Given the description of an element on the screen output the (x, y) to click on. 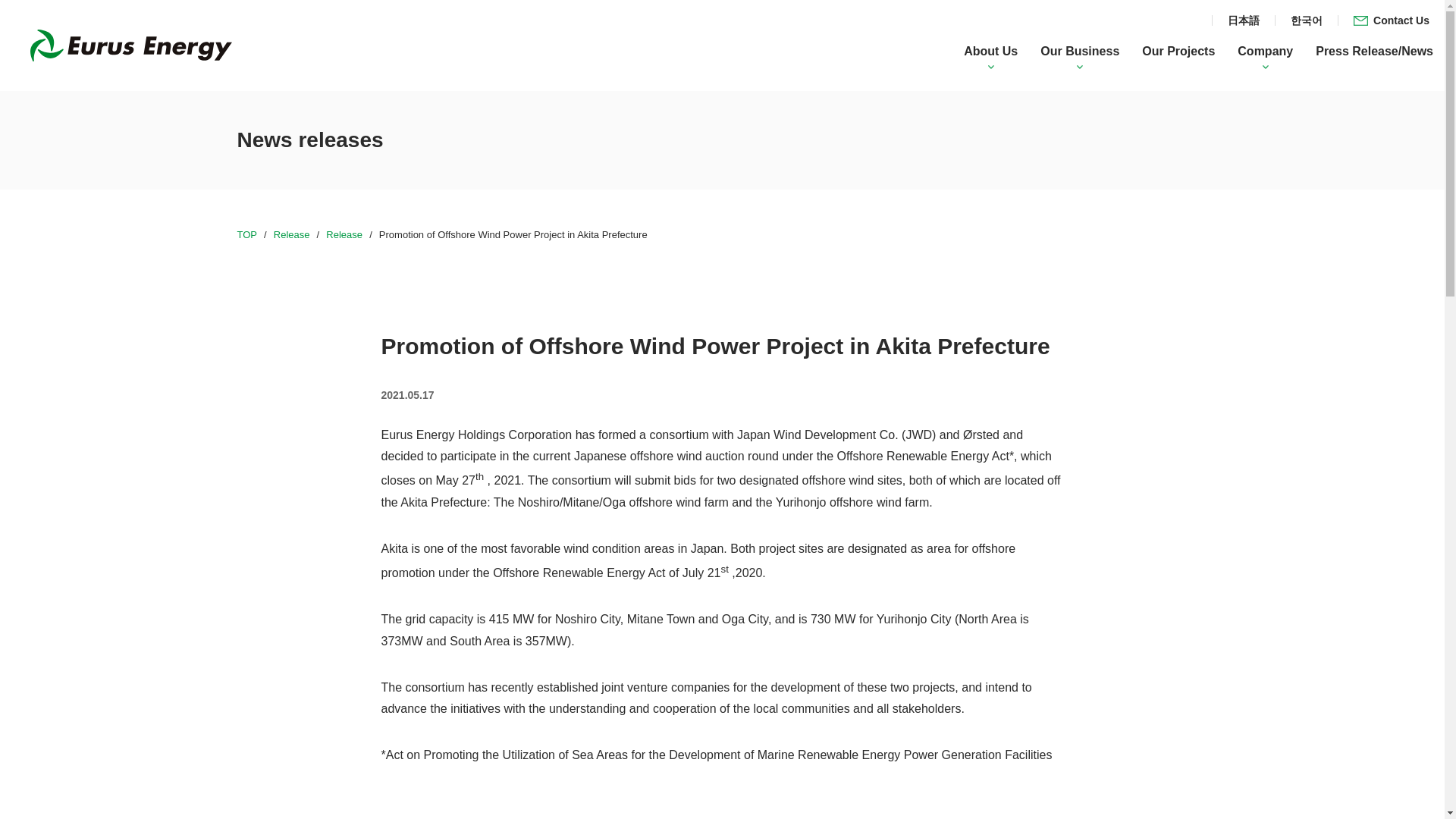
Contact Us (1390, 20)
Company (1264, 51)
Our Projects (1177, 51)
Release (344, 234)
Release (291, 234)
TOP (246, 234)
Our Business (1080, 51)
About Us (990, 51)
